Given the description of an element on the screen output the (x, y) to click on. 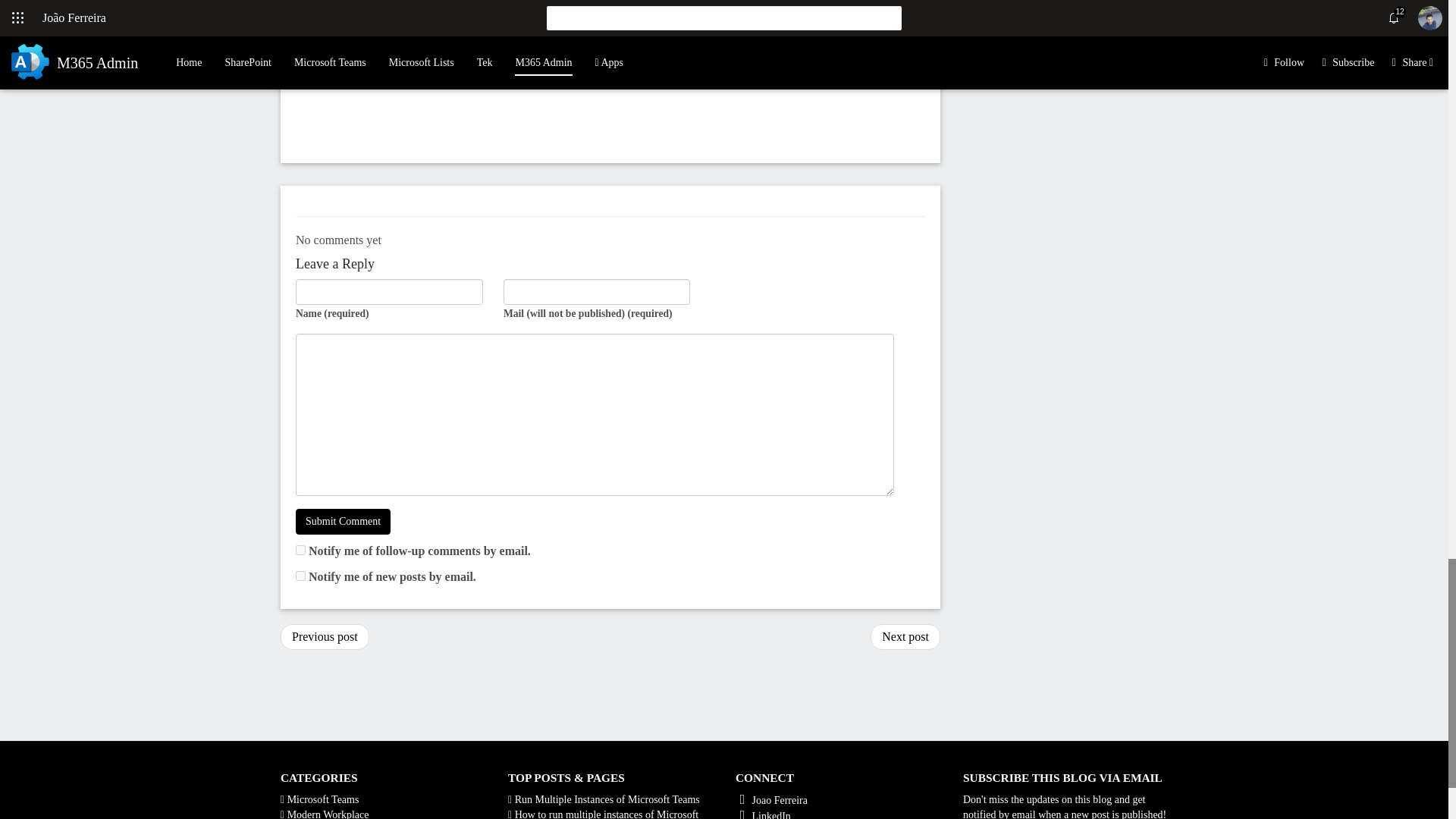
subscribe (300, 550)
Next post (905, 637)
Previous post (325, 637)
The new Exchange admin center general availability (325, 637)
subscribe (300, 575)
Submit Comment (342, 521)
Submit Comment (342, 521)
